Given the description of an element on the screen output the (x, y) to click on. 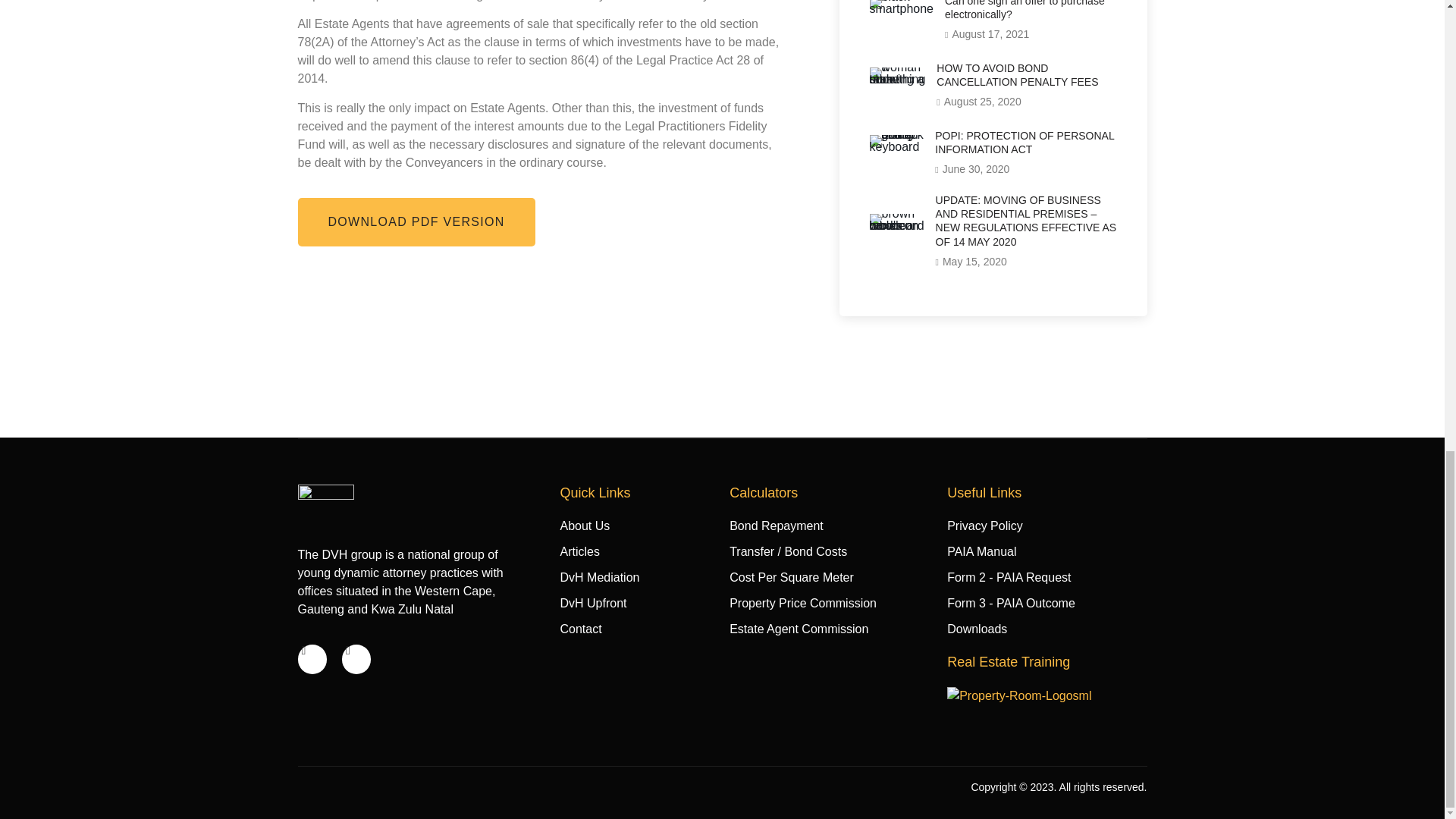
Property-Room-Logosml (1018, 696)
